Given the description of an element on the screen output the (x, y) to click on. 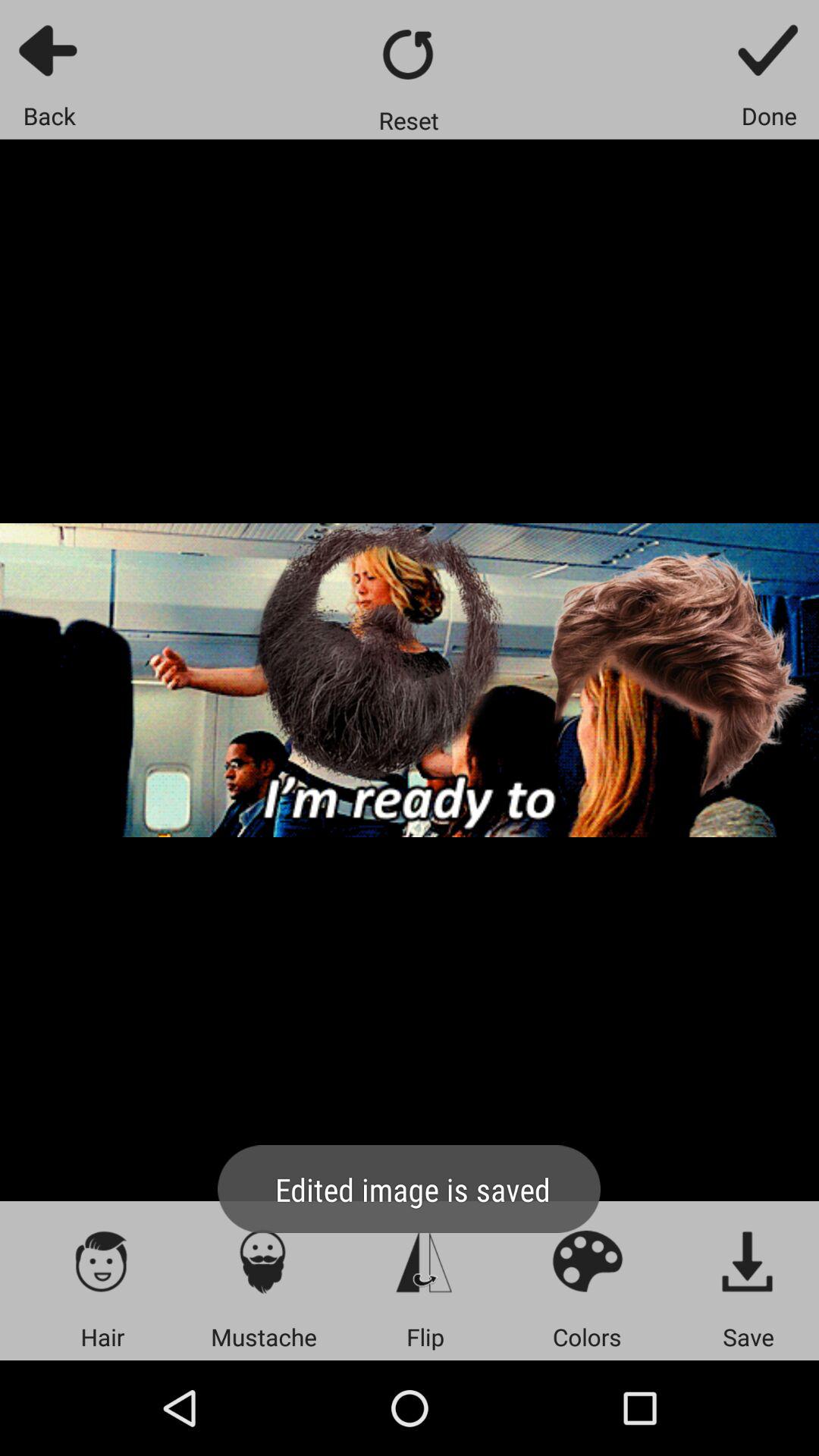
add mustache (263, 1260)
